Given the description of an element on the screen output the (x, y) to click on. 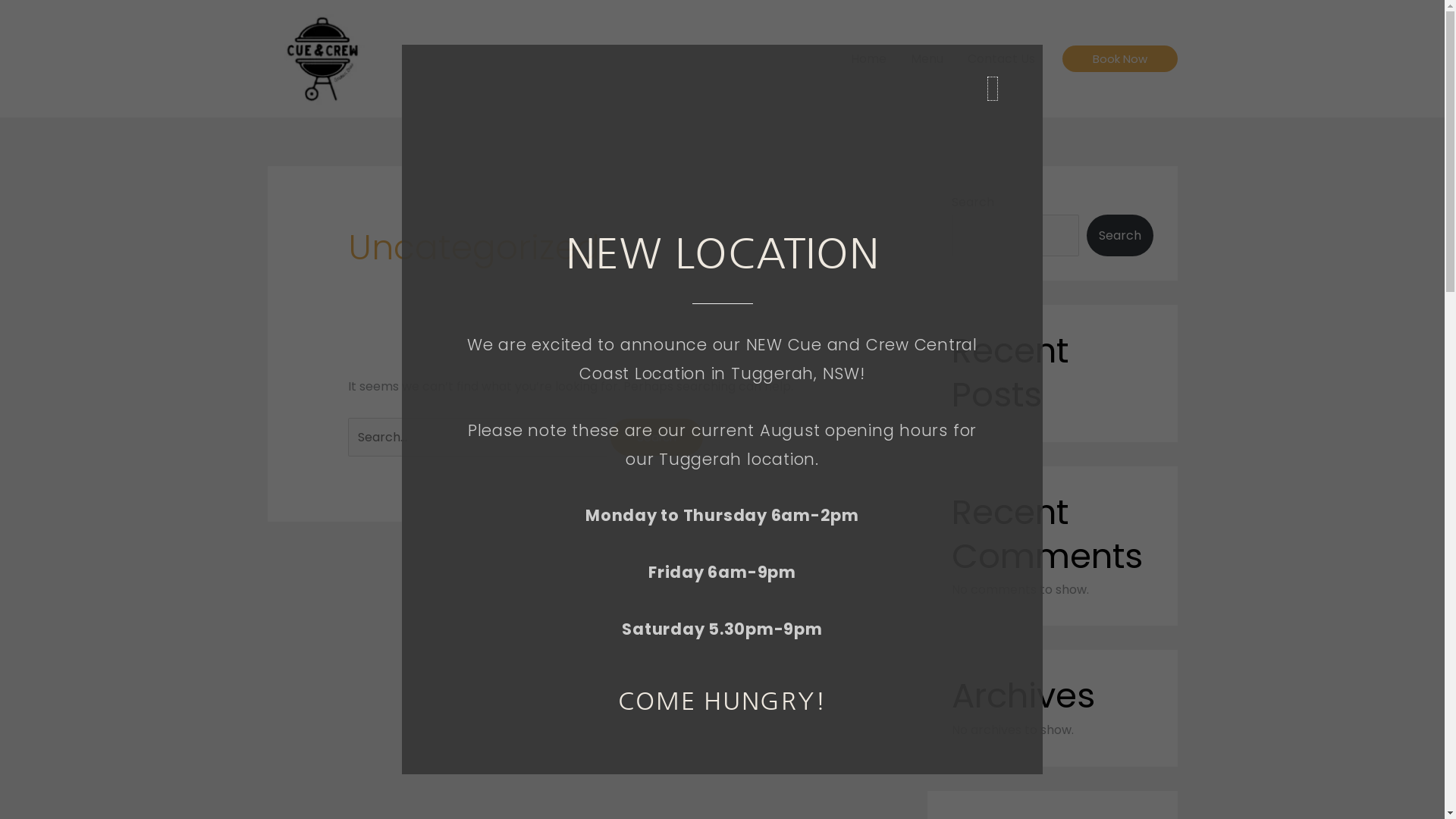
Menu Element type: text (925, 58)
Search Element type: text (1118, 234)
Search Element type: text (656, 436)
Book Now Element type: text (1118, 58)
Home Element type: text (868, 58)
Contact Us Element type: text (1001, 58)
